Given the description of an element on the screen output the (x, y) to click on. 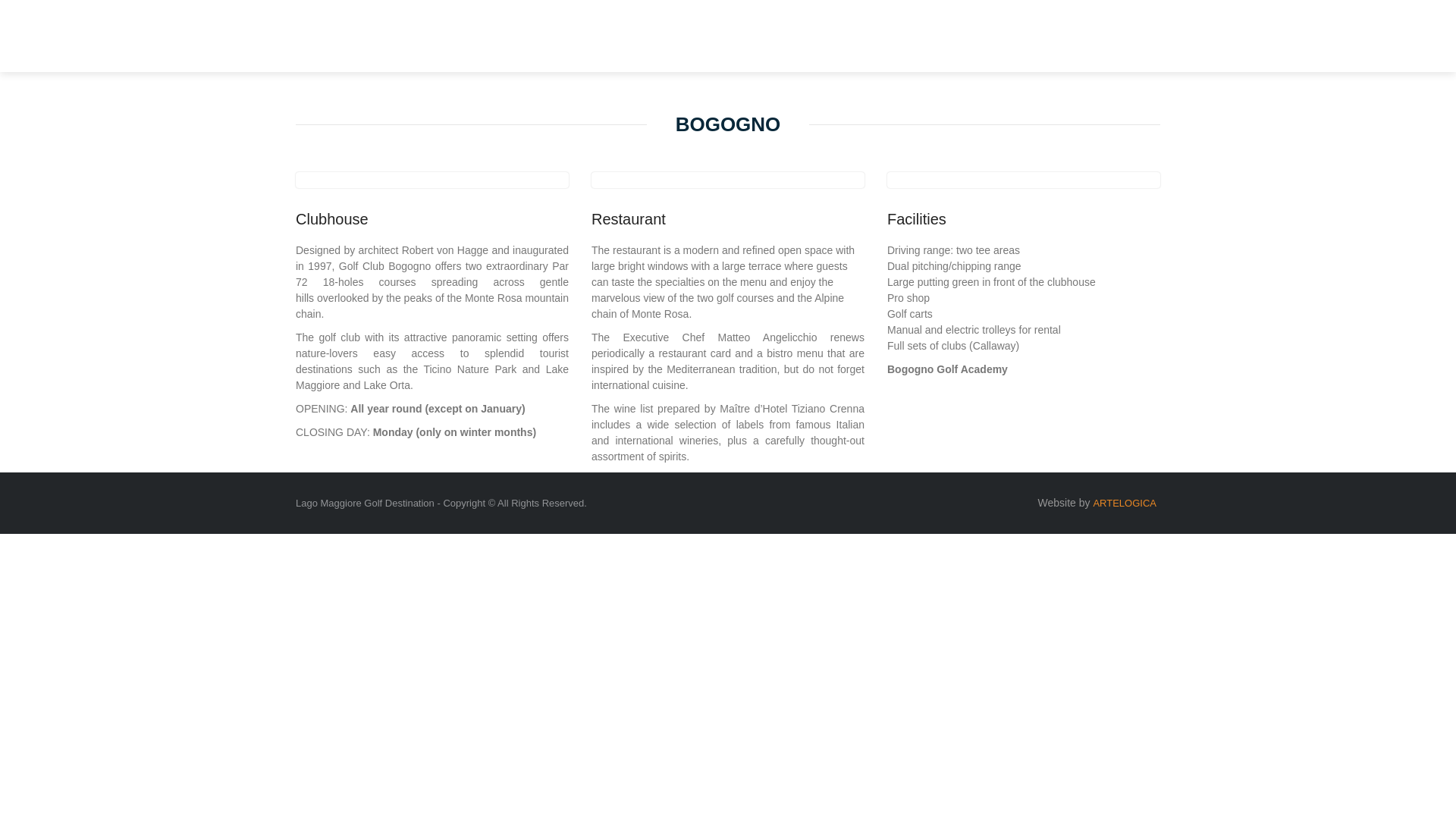
Clubhouse (432, 218)
Facilities (1023, 218)
Restaurant (727, 218)
ARTELOGICA (1124, 502)
